Given the description of an element on the screen output the (x, y) to click on. 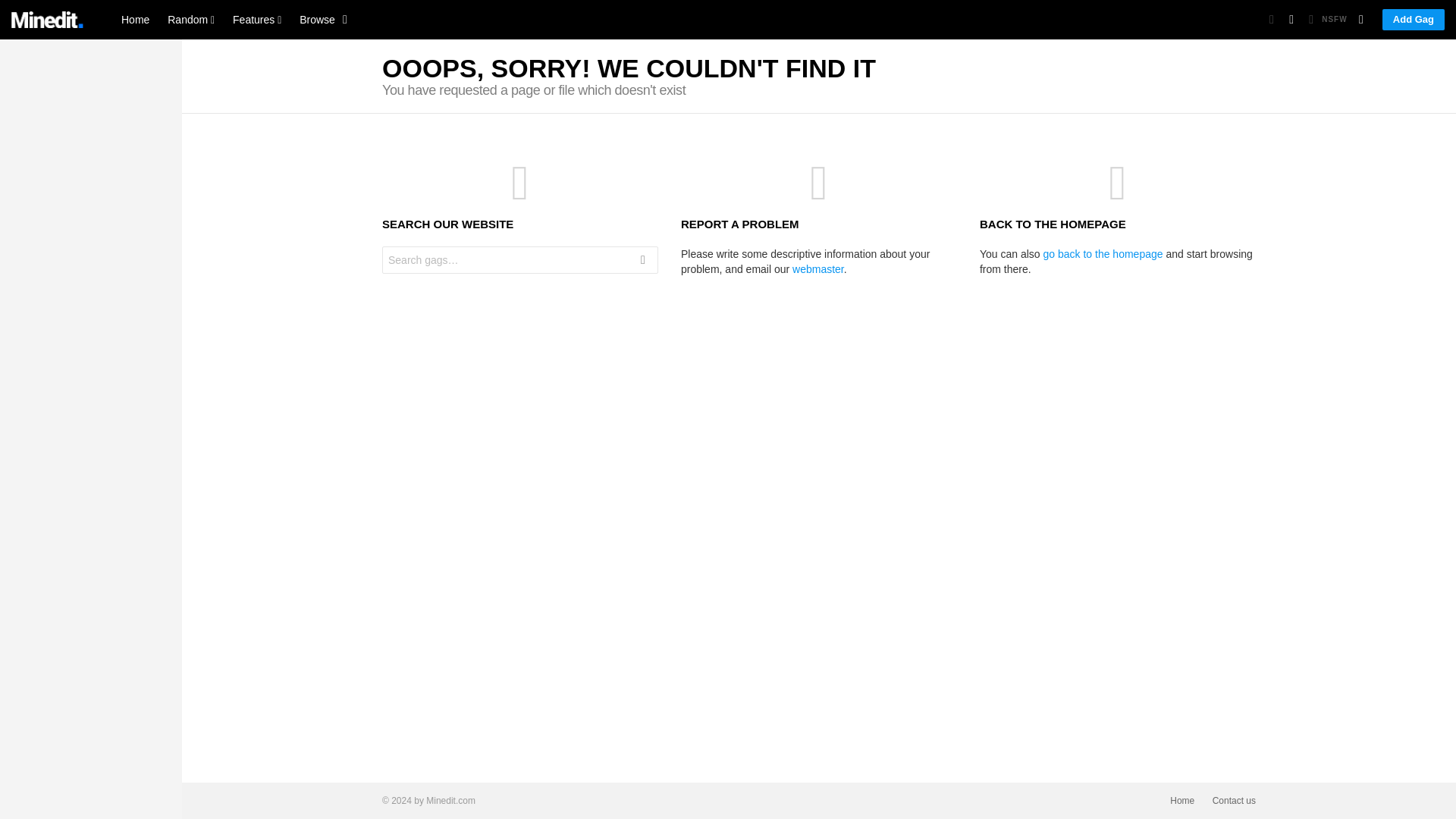
go back to the homepage (1103, 254)
Home (135, 19)
pinterest (107, 252)
youtube (131, 252)
Search for: (519, 259)
Contact us (1234, 800)
Add Gag (1412, 19)
instagram (83, 252)
Browse (319, 19)
facebook (34, 252)
